Given the description of an element on the screen output the (x, y) to click on. 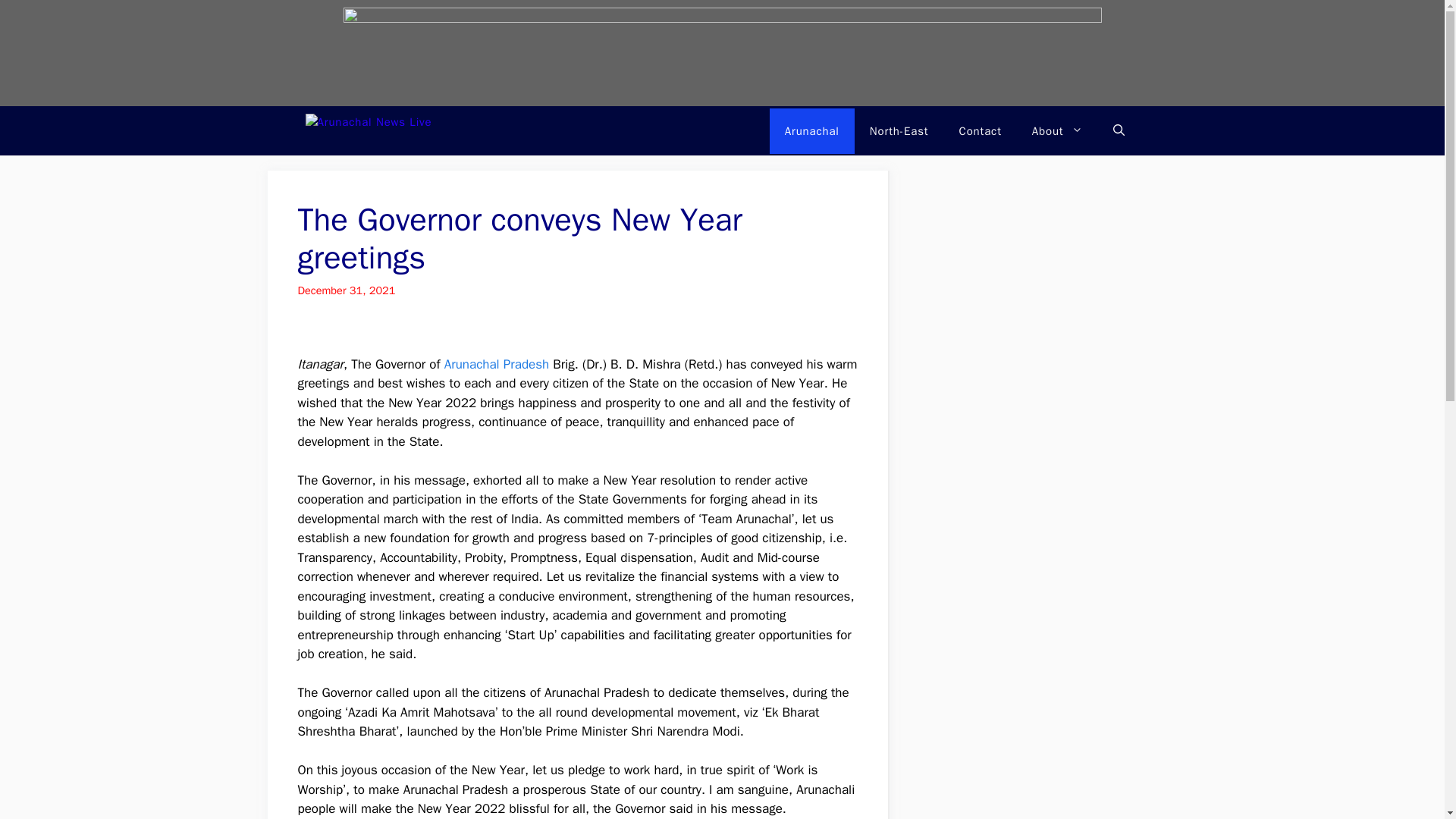
About (1056, 130)
Arunachal Pradesh (497, 364)
Arunachal (812, 130)
Arunachal News Live (441, 130)
North-East (898, 130)
Contact (979, 130)
